Given the description of an element on the screen output the (x, y) to click on. 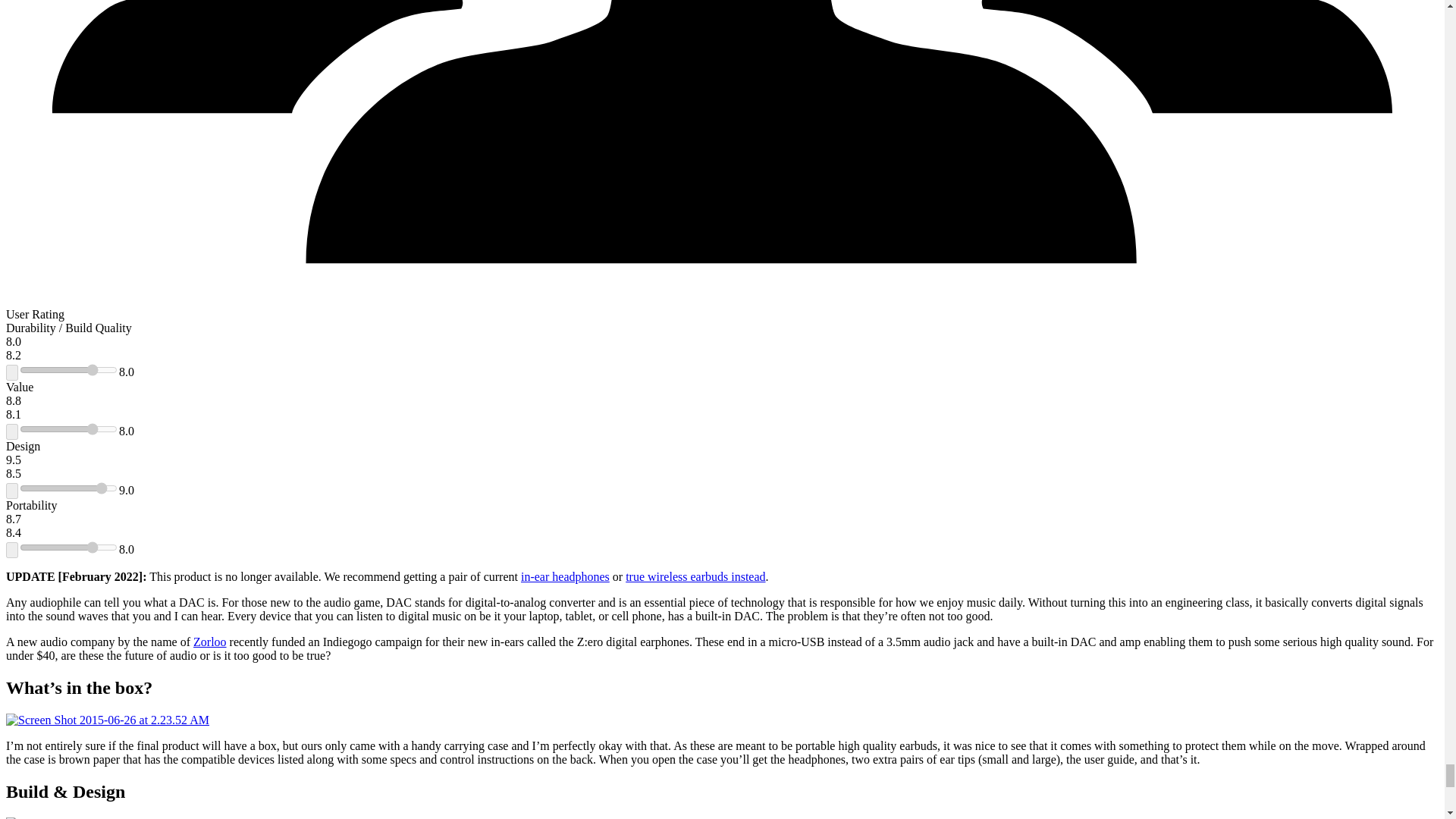
8 (68, 428)
in-ear headphones (565, 576)
Screen Shot 2015-06-26 at 2.23.52 AM (107, 720)
Zorloo (210, 641)
8 (68, 369)
true wireless earbuds instead (695, 576)
8 (68, 547)
9 (68, 488)
